Given the description of an element on the screen output the (x, y) to click on. 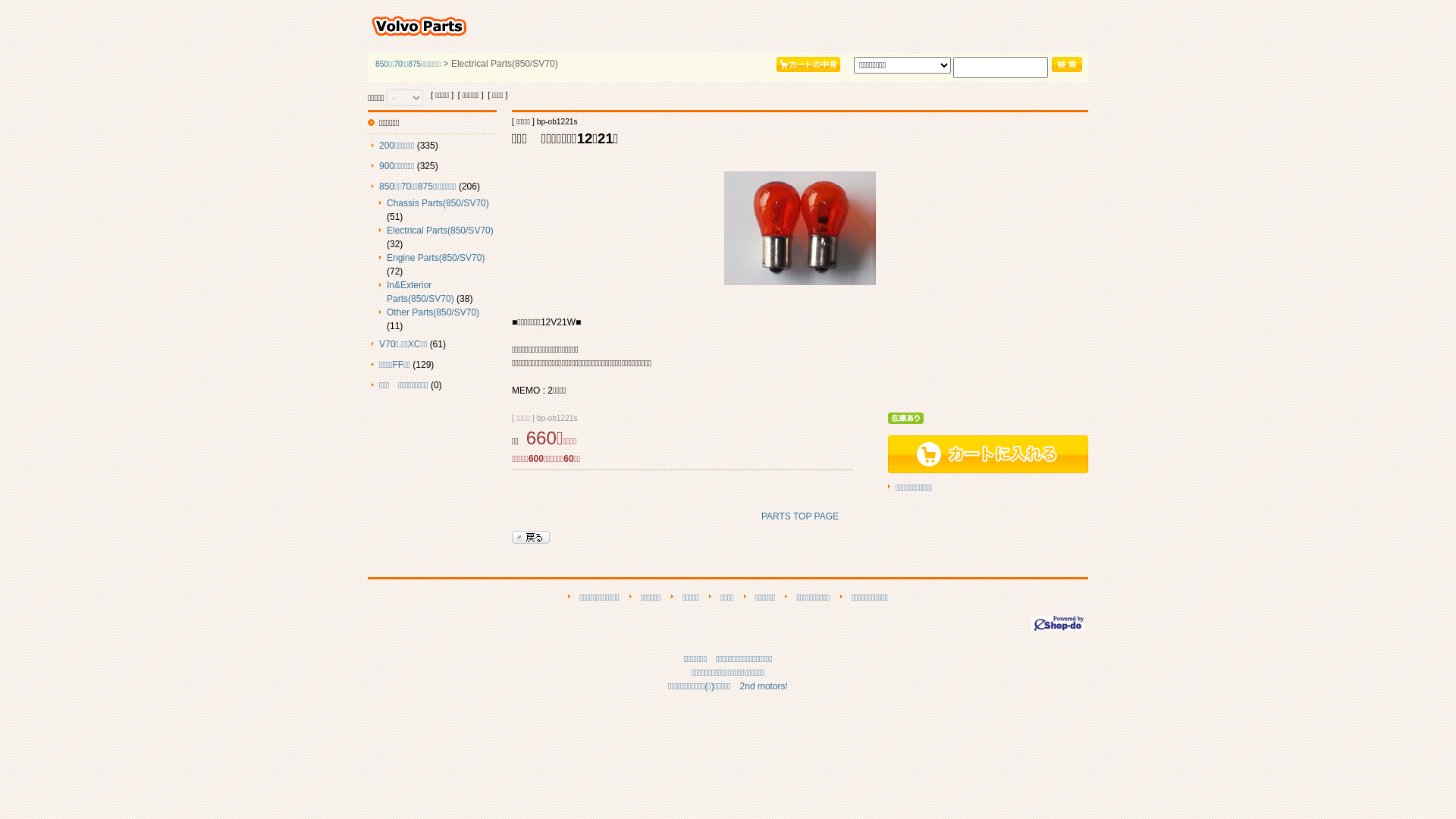
PARTS TOP PAGE Element type: text (799, 516)
In&Exterior Parts(850/SV70) Element type: text (420, 291)
Electrical Parts(850/SV70) Element type: text (439, 230)
Other Parts(850/SV70) Element type: text (432, 312)
Chassis Parts(850/SV70) Element type: text (437, 202)
Engine Parts(850/SV70) Element type: text (435, 257)
